Given the description of an element on the screen output the (x, y) to click on. 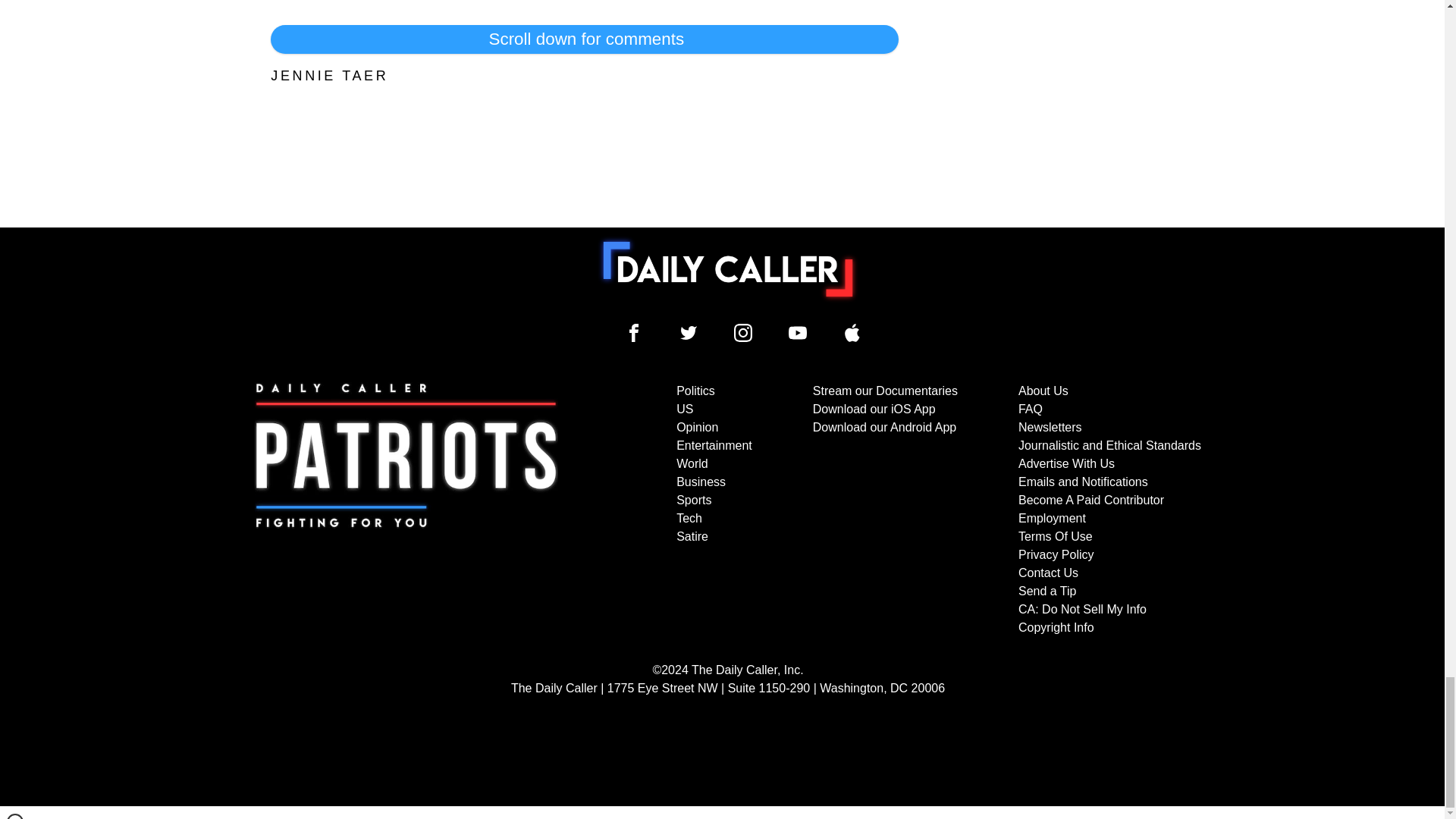
Daily Caller YouTube (797, 332)
Daily Caller YouTube (852, 332)
Daily Caller Facebook (633, 332)
Daily Caller Twitter (688, 332)
Scroll down for comments (584, 39)
To home page (727, 268)
Subscribe to The Daily Caller (405, 509)
Daily Caller Instagram (742, 332)
